Given the description of an element on the screen output the (x, y) to click on. 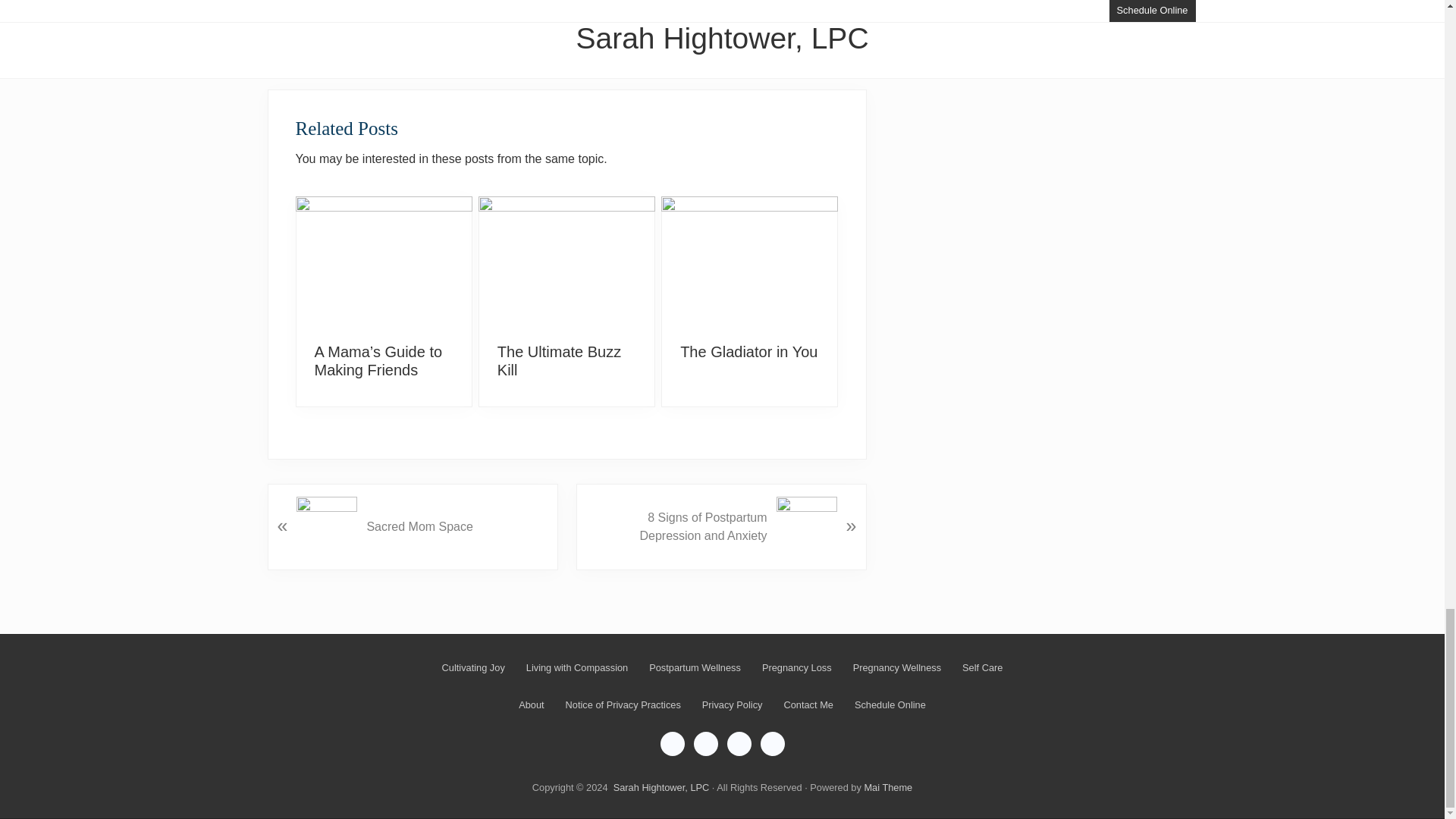
The Ultimate Buzz Kill (559, 360)
The Gladiator in You (747, 351)
The Ultimate Buzz Kill (559, 360)
The Gladiator in You (749, 262)
get in touch with me (621, 16)
The Ultimate Buzz Kill (567, 262)
Sarah Hightower, LPC (661, 787)
The Gladiator in You (747, 351)
